Given the description of an element on the screen output the (x, y) to click on. 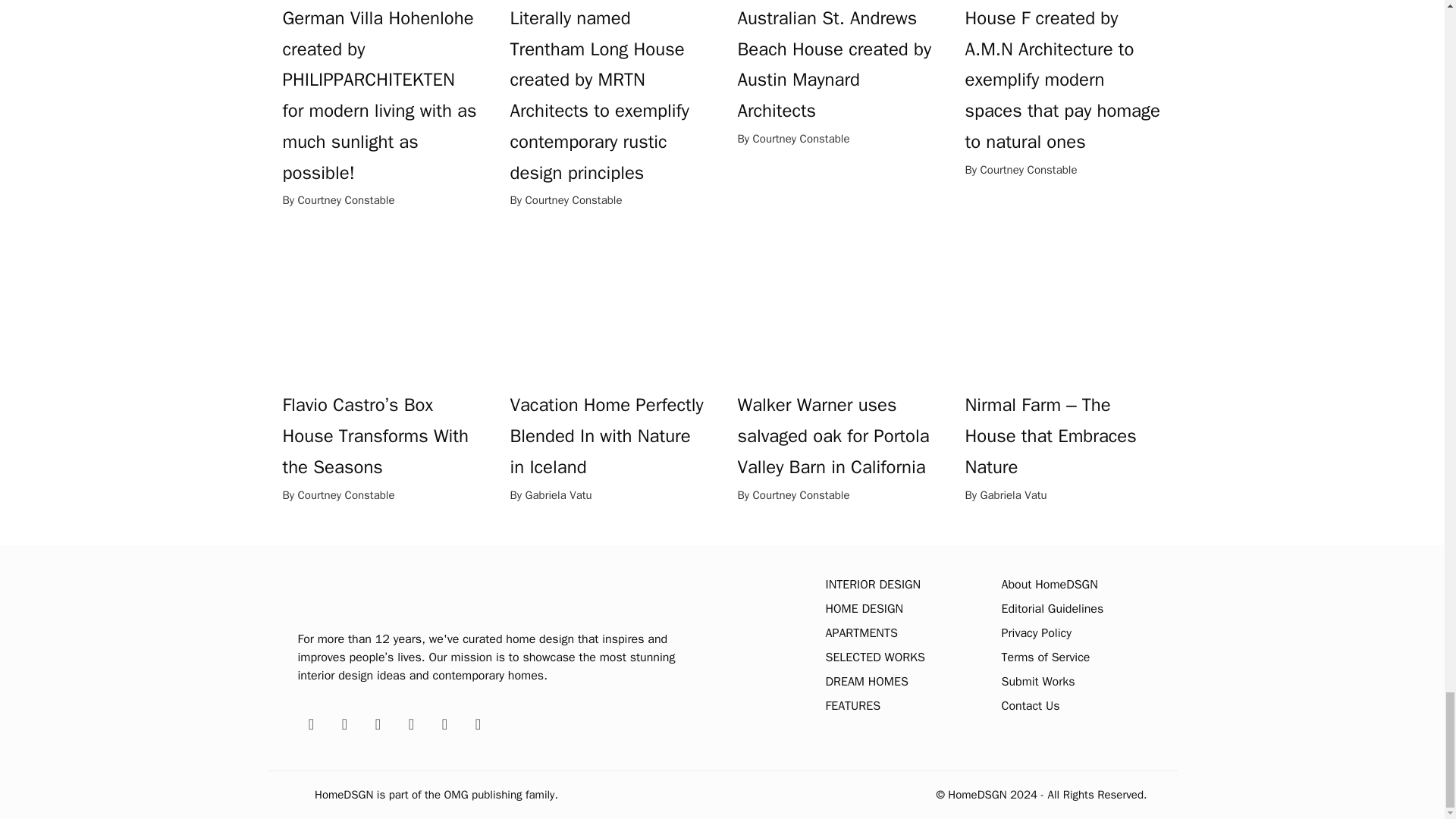
LinkedIn (443, 723)
Facebook (310, 723)
Pinterest (343, 723)
Twitter (377, 723)
YouTube (477, 723)
Instagram (410, 723)
